Given the description of an element on the screen output the (x, y) to click on. 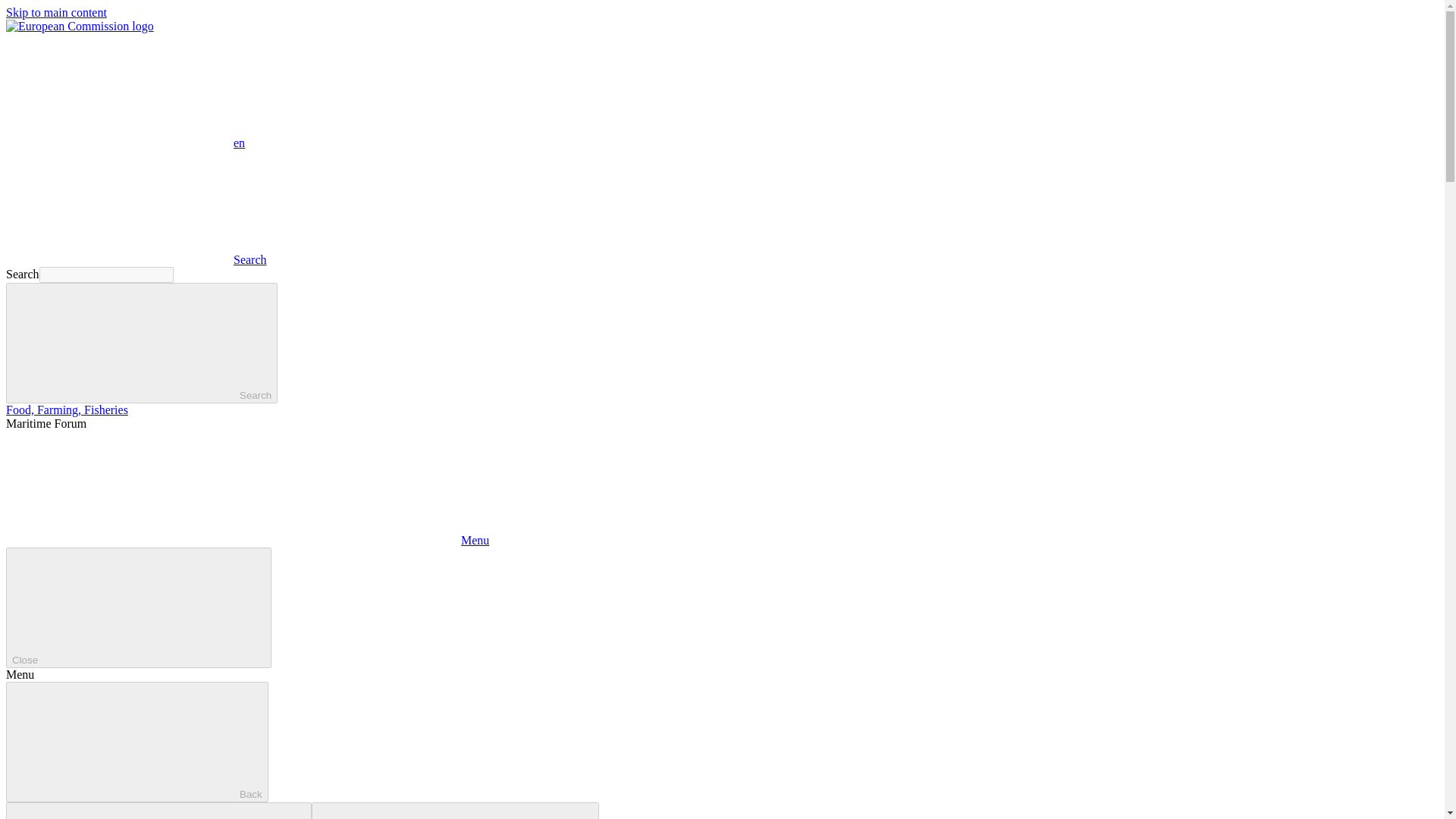
Close (137, 607)
Next items (454, 810)
Back (136, 741)
enen (124, 142)
Menu (247, 540)
Search (141, 342)
Previous items (158, 810)
Search (135, 259)
Food, Farming, Fisheries (66, 409)
Skip to main content (55, 11)
European Commission (79, 25)
en (118, 90)
